Given the description of an element on the screen output the (x, y) to click on. 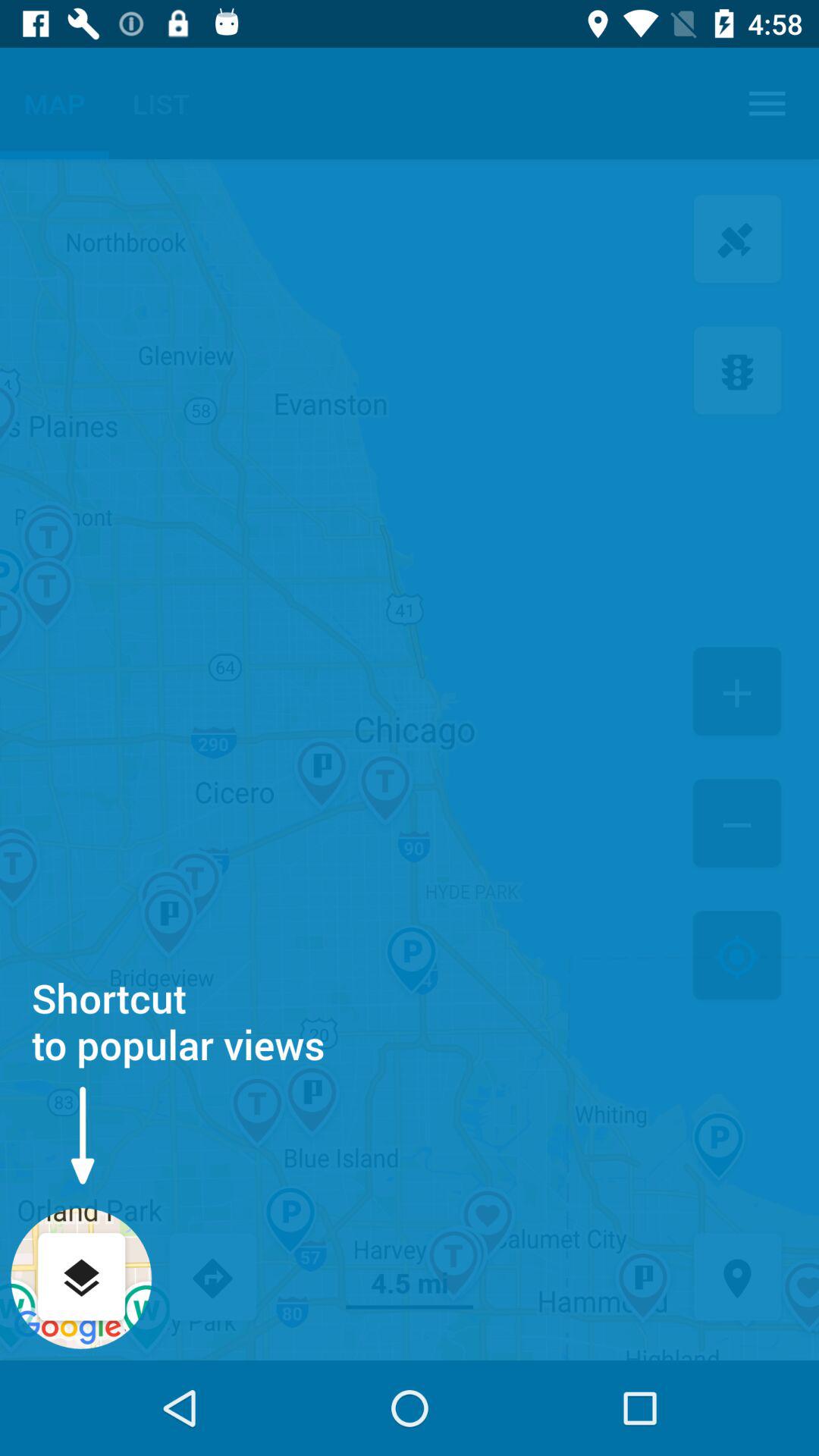
popular views (81, 1278)
